Given the description of an element on the screen output the (x, y) to click on. 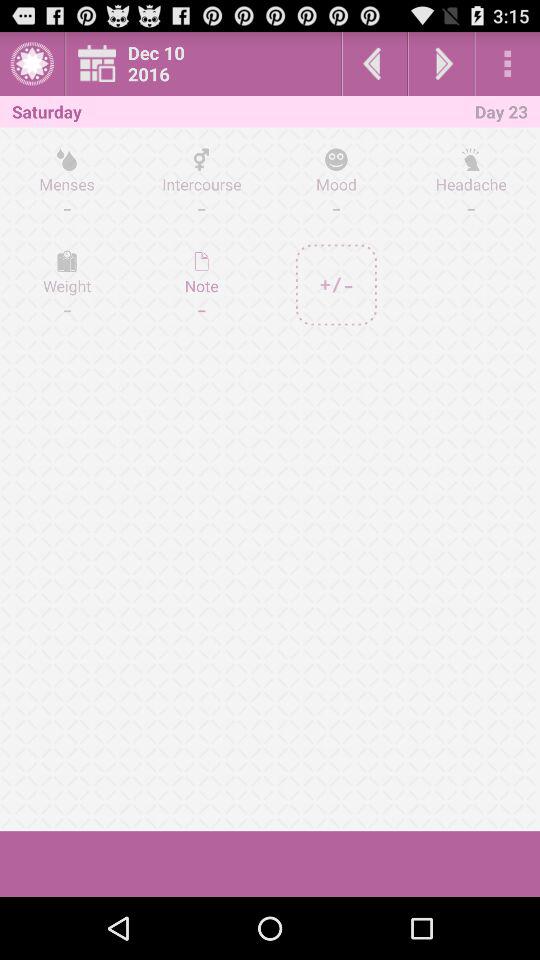
tap icon next to the menses
_ icon (201, 284)
